Given the description of an element on the screen output the (x, y) to click on. 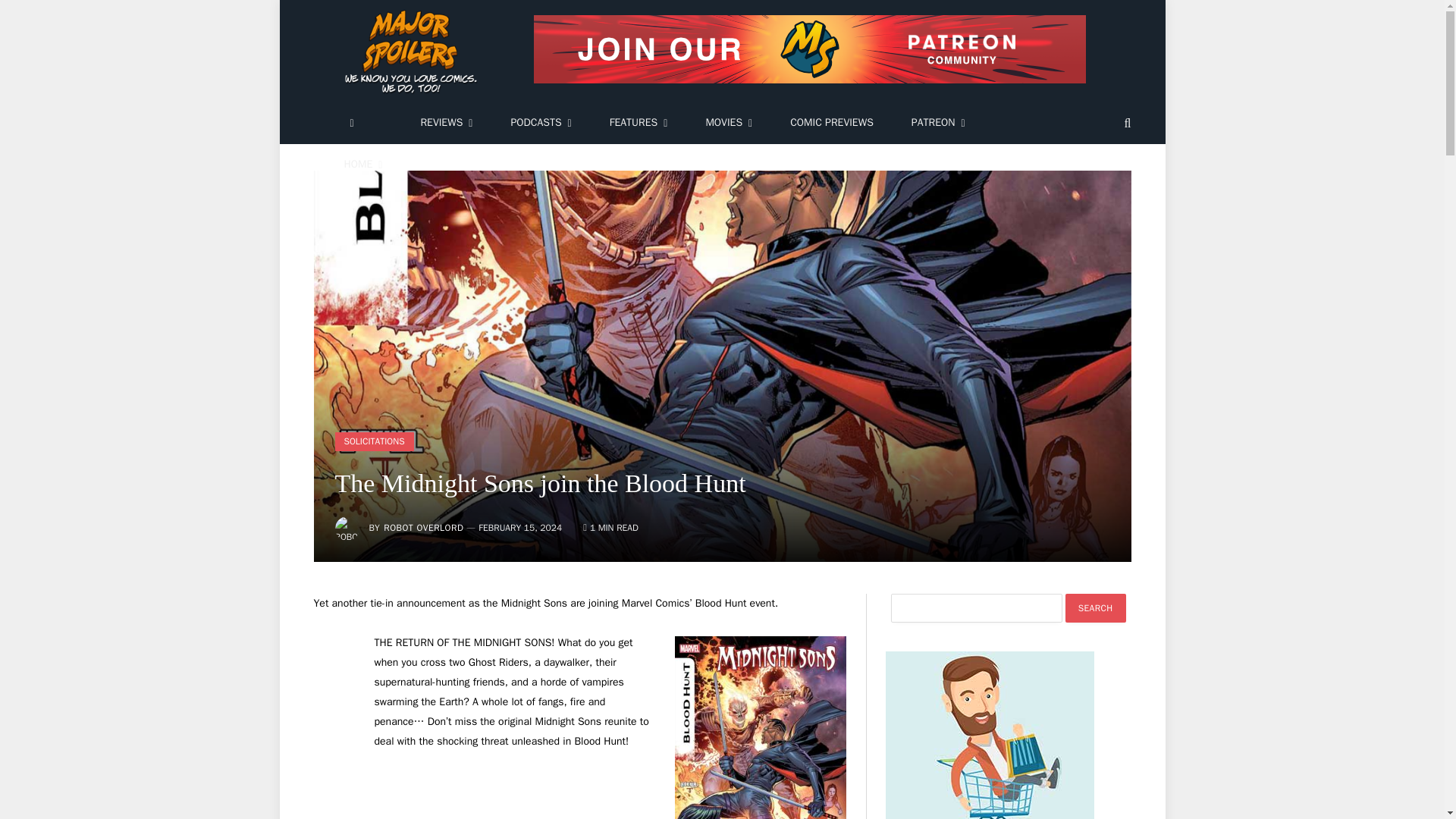
Posts by Robot Overlord (423, 527)
PODCASTS (540, 123)
Search (1095, 607)
HOME (362, 164)
REVIEWS (446, 123)
Major Spoilers (412, 51)
